Given the description of an element on the screen output the (x, y) to click on. 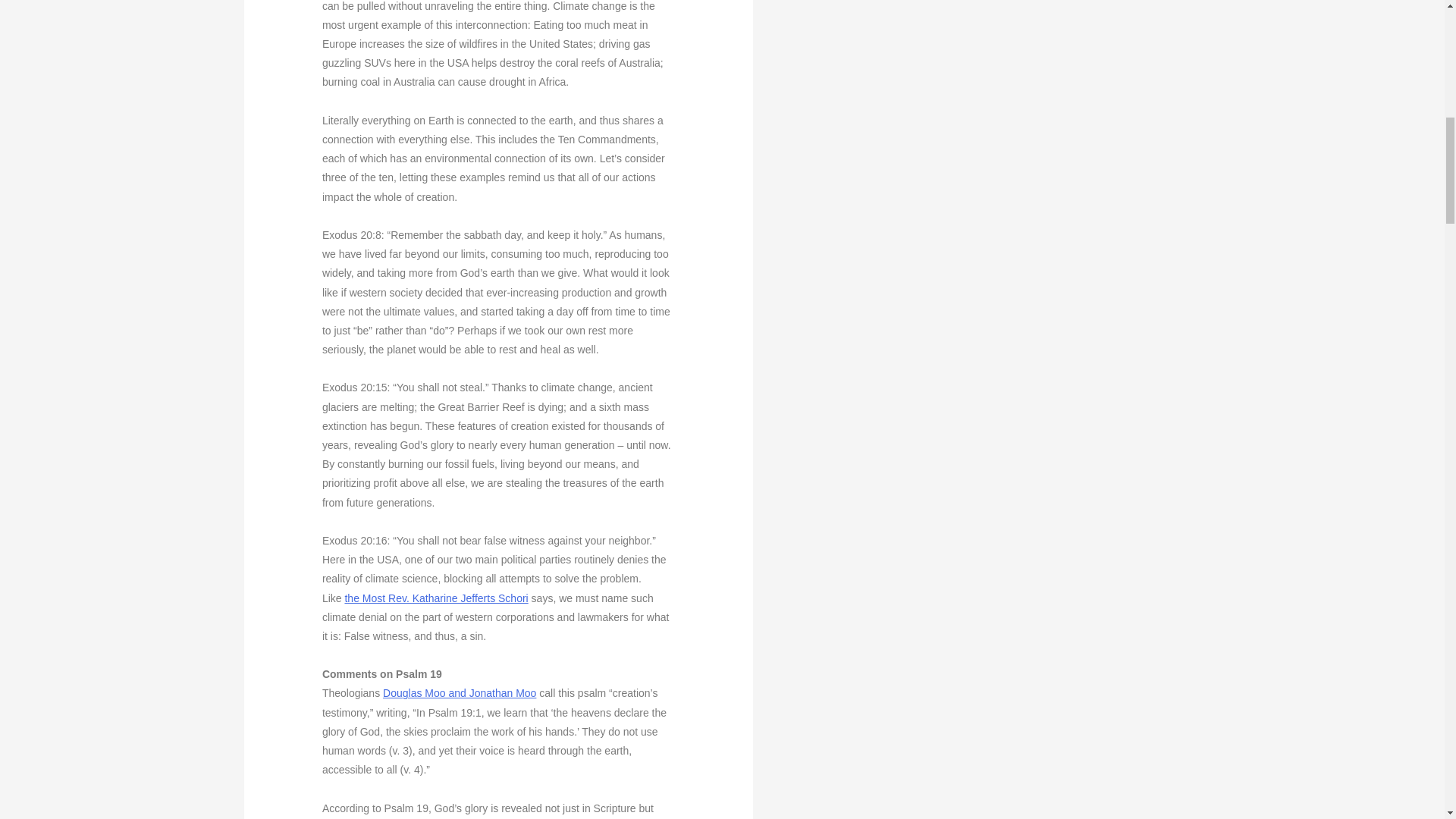
Douglas Moo and Jonathan Moo (458, 693)
the Most Rev. Katharine Jefferts Schori (435, 598)
